Given the description of an element on the screen output the (x, y) to click on. 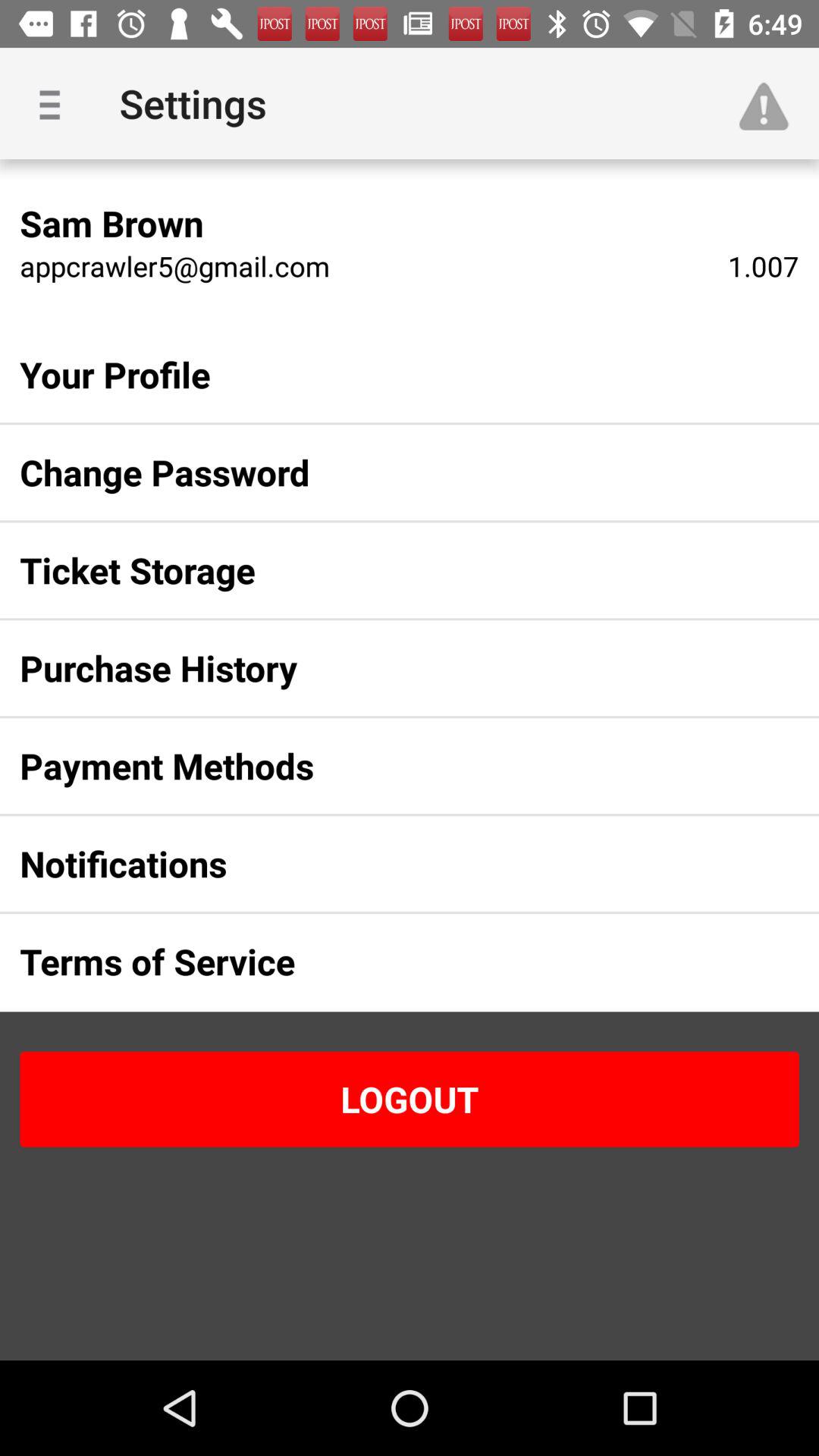
jump until appcrawler5@gmail.com icon (174, 265)
